Given the description of an element on the screen output the (x, y) to click on. 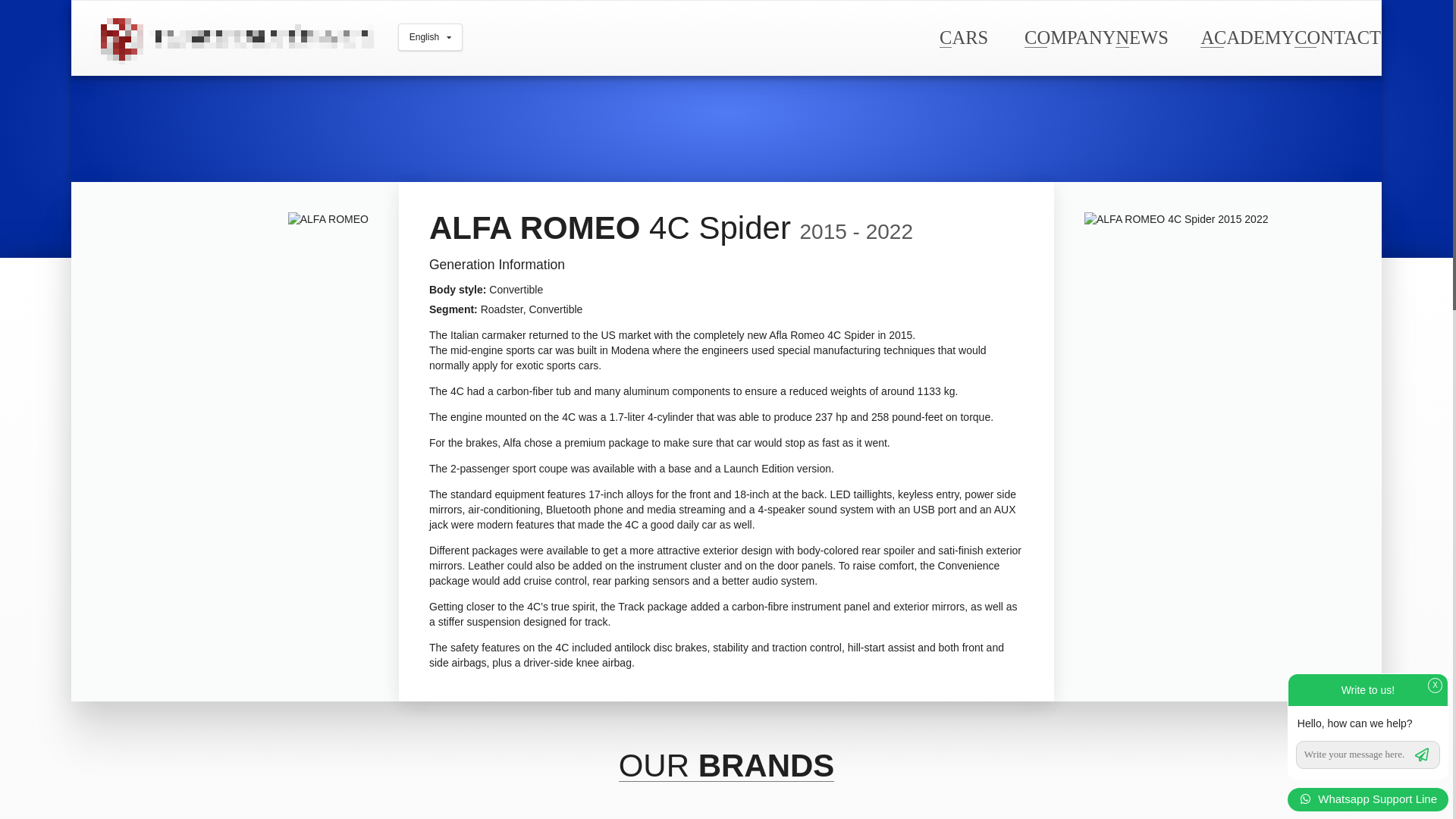
CONTACT (1337, 37)
COMPANY (1070, 37)
CARS (963, 37)
NEWS (1141, 37)
ACADEMY (1246, 37)
